Given the description of an element on the screen output the (x, y) to click on. 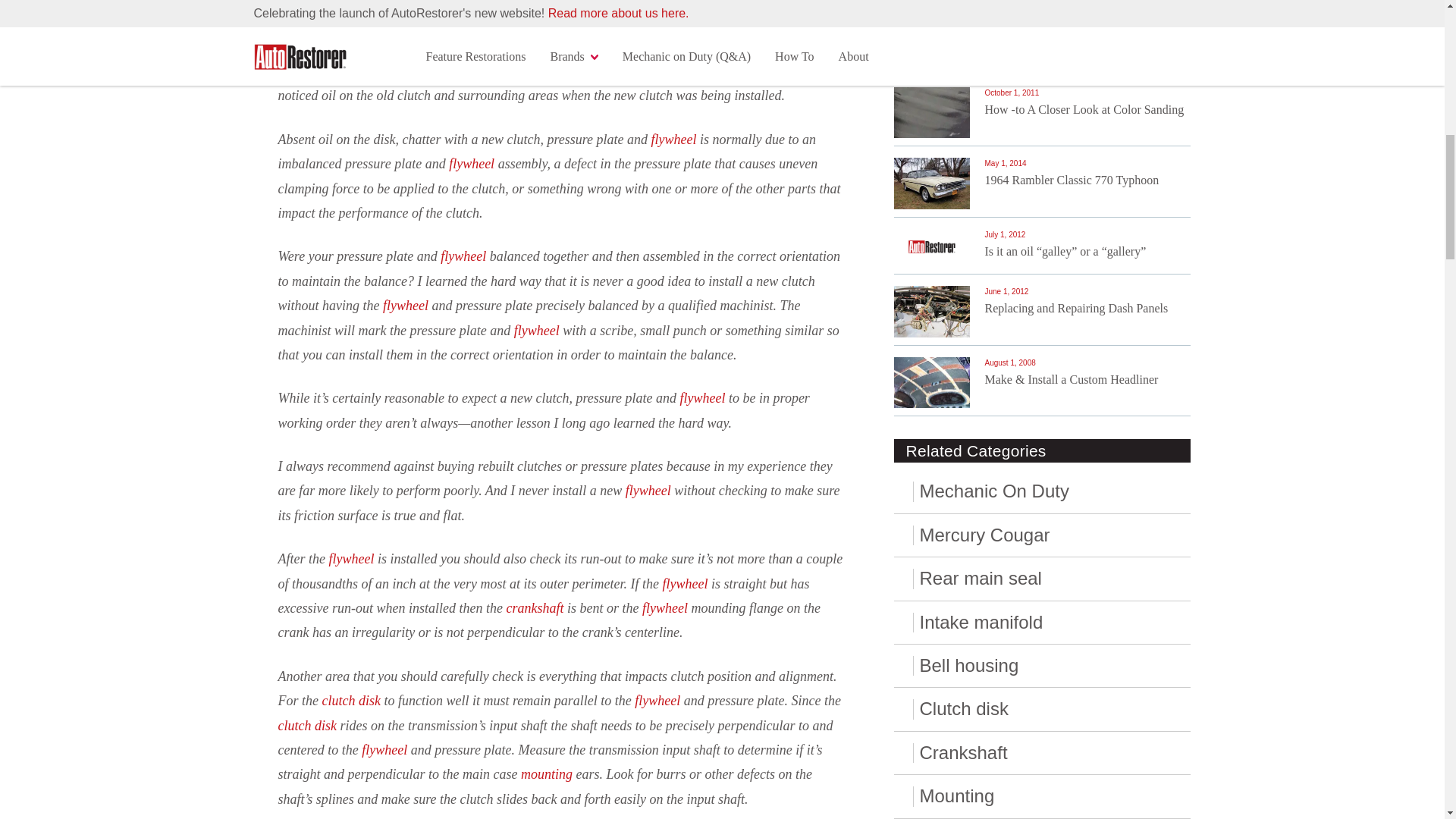
clutch disk (420, 70)
flywheel (471, 163)
intake manifold (540, 46)
rear main seal (452, 46)
flywheel (673, 139)
flywheel (463, 255)
